Given the description of an element on the screen output the (x, y) to click on. 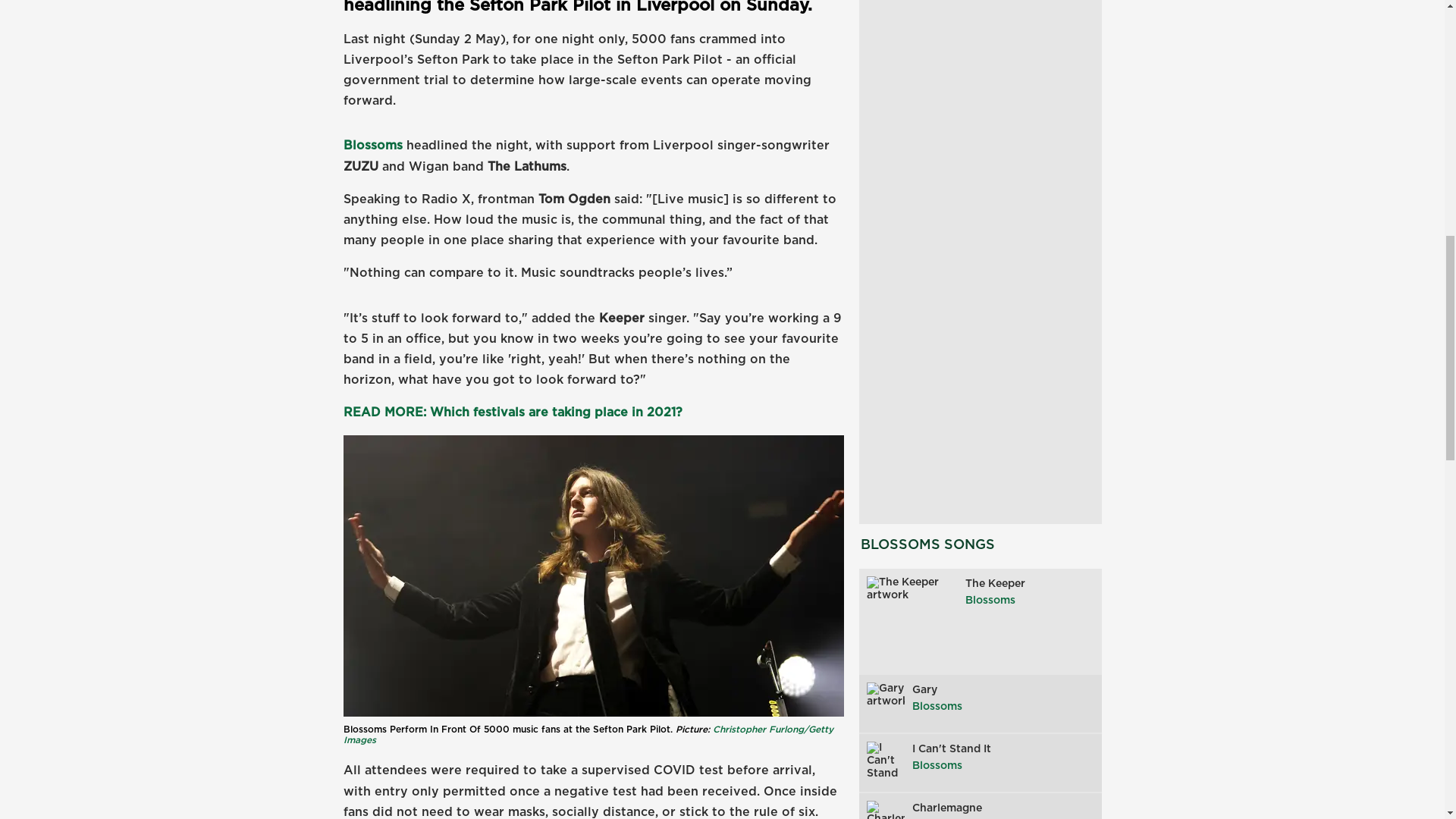
Blossoms (371, 145)
READ MORE: Which festivals are taking place in 2021? (511, 412)
